Given the description of an element on the screen output the (x, y) to click on. 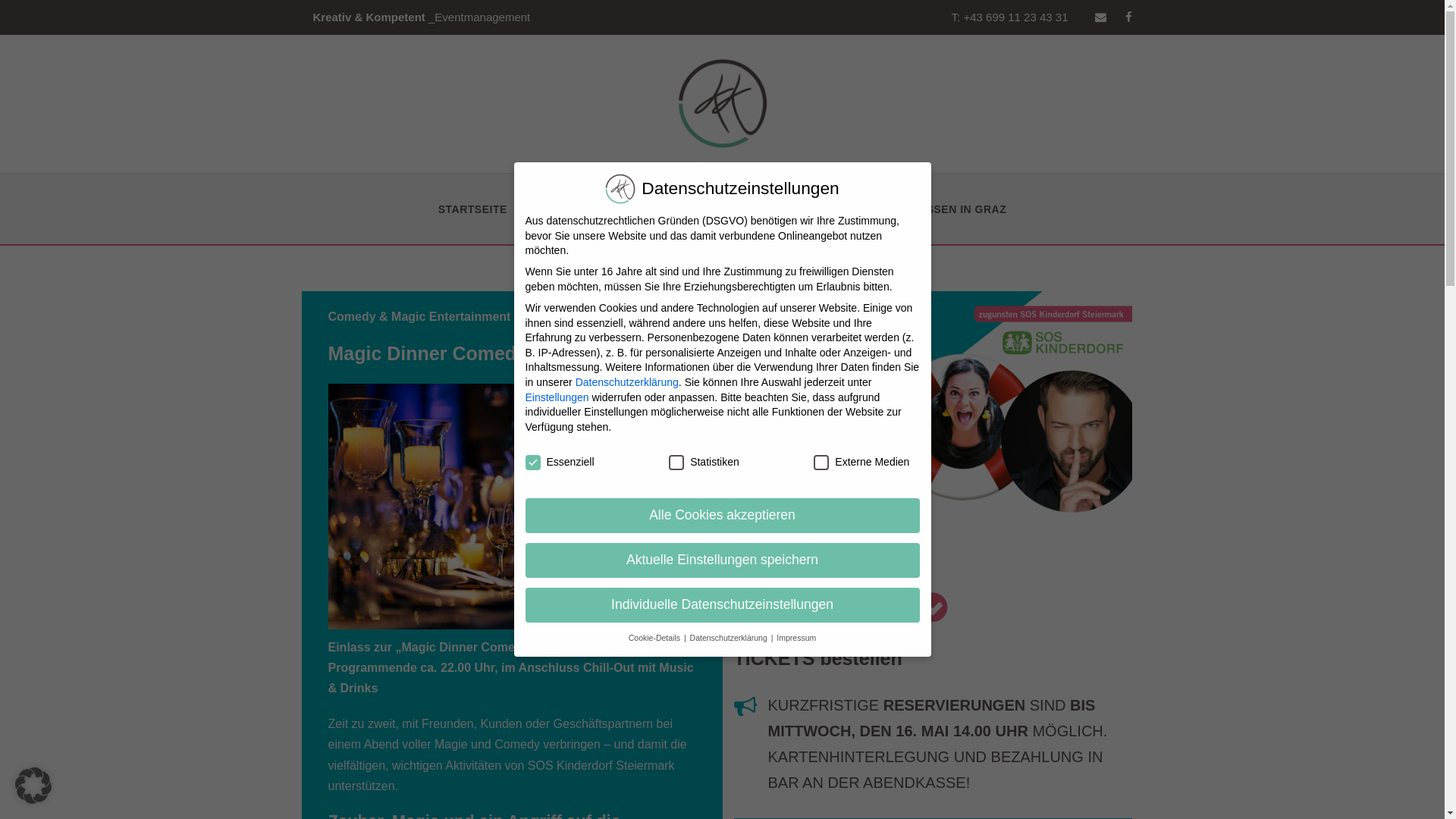
Einstellungen Element type: text (556, 397)
Aktuelle Einstellungen speichern Element type: text (721, 559)
HeaderMND Element type: hover (933, 429)
CV & PROJEKTE Element type: text (685, 222)
Impressum Element type: text (795, 637)
Individuelle Datenschutzeinstellungen Element type: text (721, 604)
Cookie-Details Element type: text (655, 637)
facebook Element type: hover (1128, 16)
LEISTUNGEN Element type: text (573, 222)
Alle Cookies akzeptieren Element type: text (721, 515)
Impressum Element type: text (936, 606)
Green Panther Element type: text (666, 683)
Logo Icon Eventmangement Element type: hover (721, 102)
WEBDESIGN BY WERBEAGENTUR MORRE Element type: text (821, 780)
HOCHZEITSMESSEN IN GRAZ Element type: text (925, 222)
KONTAKT Element type: text (787, 222)
email Element type: hover (1100, 16)
STARTSEITE Element type: text (472, 222)
Kontakt Element type: text (926, 567)
IMPRESSUM Element type: text (528, 780)
MUDS Einladungsmanagement Element type: text (711, 645)
office@eventmanagement.cc Element type: text (411, 648)
Hochzeitsmessen Graz Element type: text (688, 567)
DATENSCHUTZ Element type: text (628, 780)
